Given the description of an element on the screen output the (x, y) to click on. 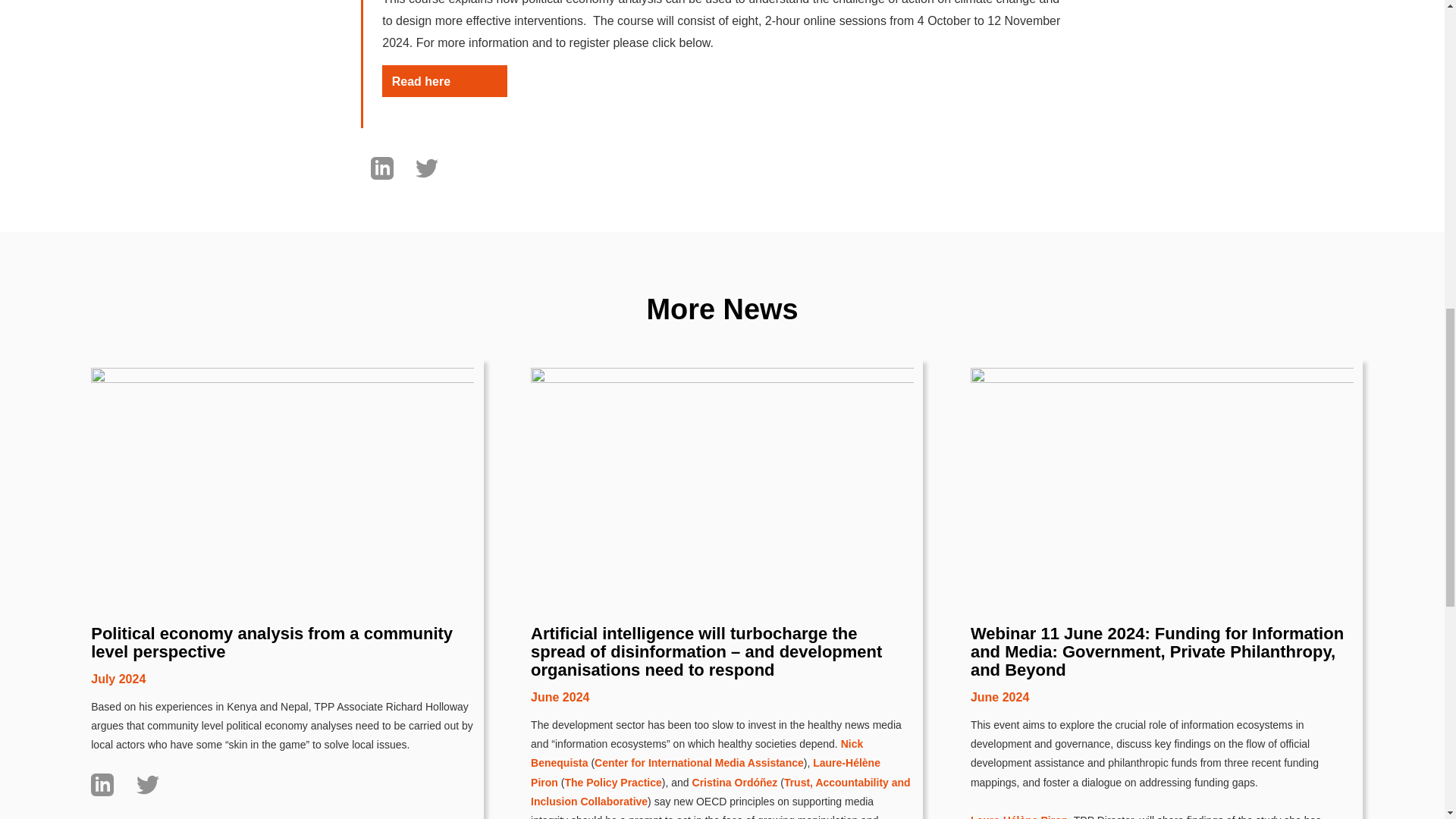
Nick Benequista (697, 652)
The Policy Practice (612, 680)
Read more (122, 727)
Center for International Media Assistance (698, 662)
